Given the description of an element on the screen output the (x, y) to click on. 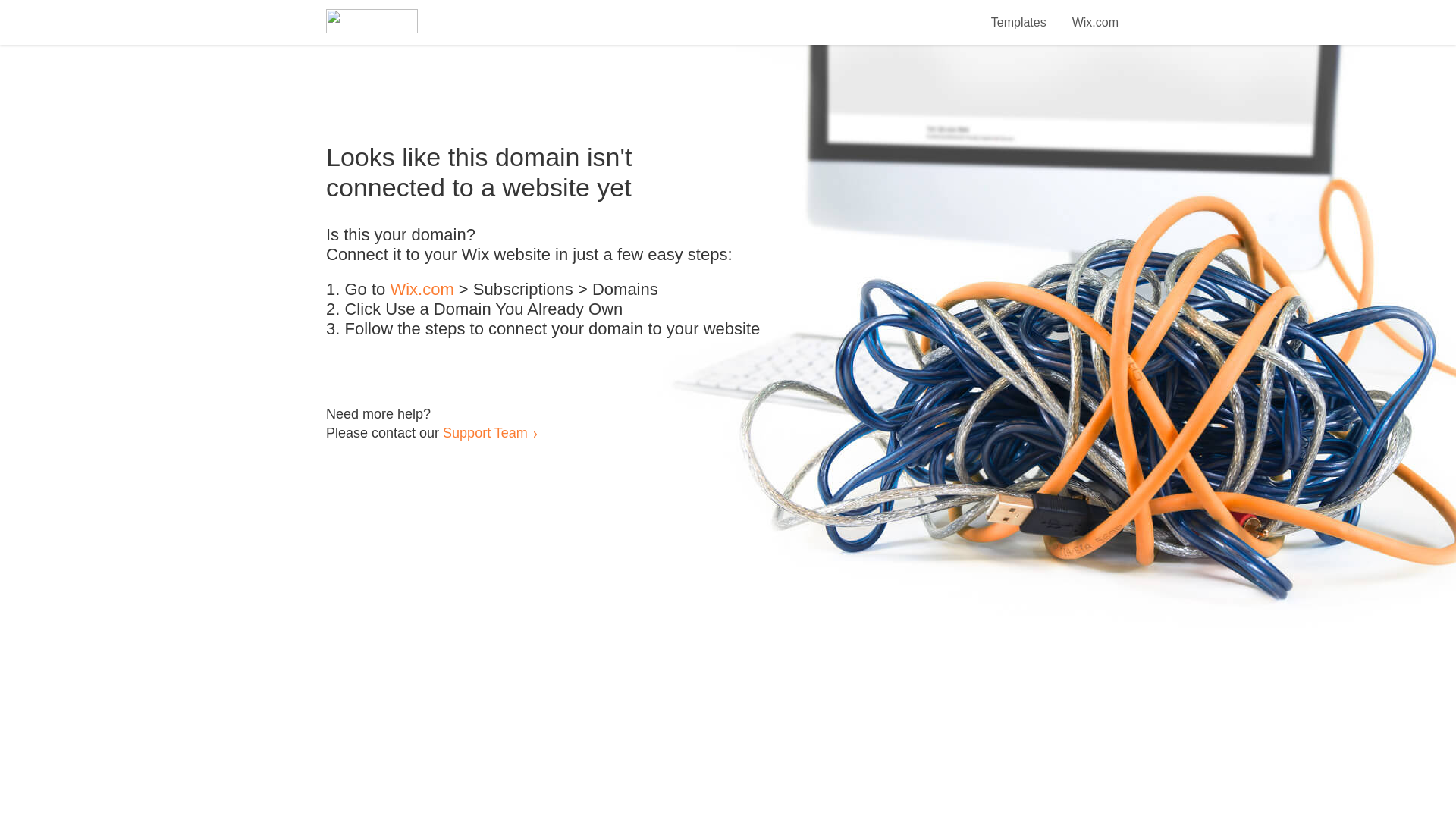
Support Team (484, 432)
Templates (1018, 14)
Wix.com (1095, 14)
Wix.com (421, 289)
